Given the description of an element on the screen output the (x, y) to click on. 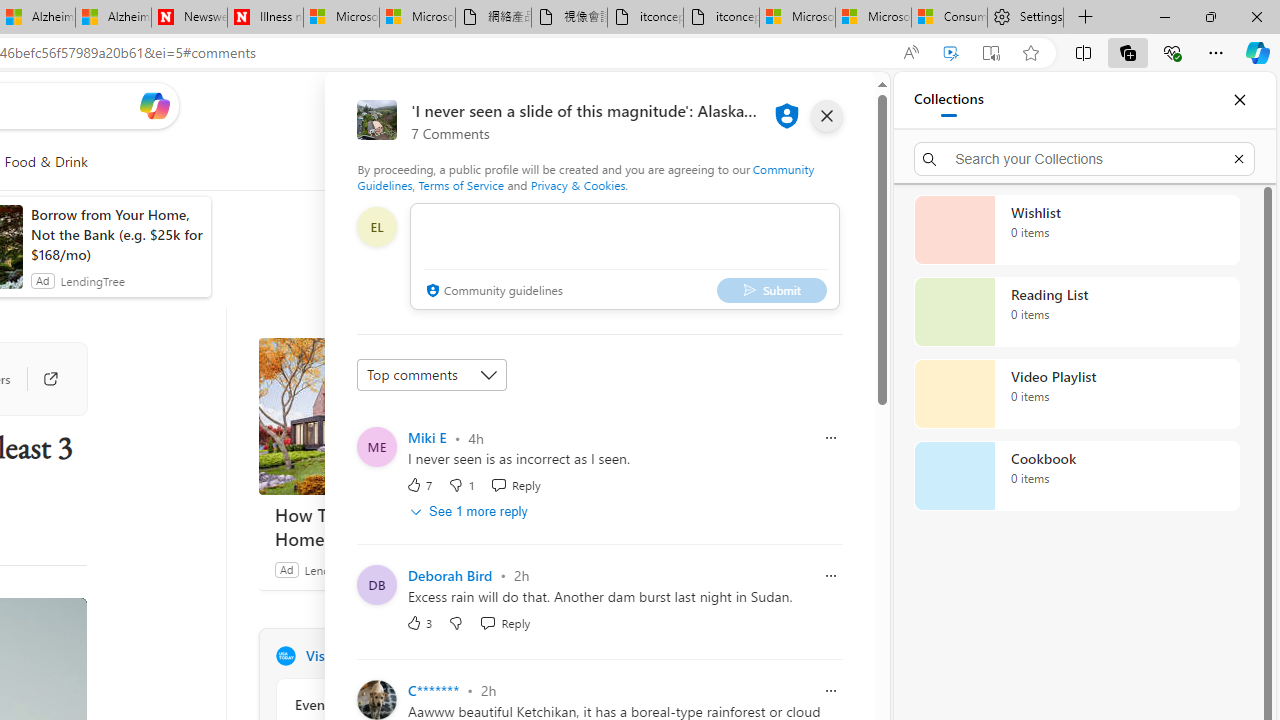
Newsweek - News, Analysis, Politics, Business, Technology (189, 17)
Go to publisher's site (40, 378)
Privacy & Cookies (577, 184)
Visit USA TODAY website (532, 655)
comment-box (624, 256)
See 1 more reply (470, 511)
LendingTree (336, 569)
Cookbook collection, 0 items (1076, 475)
Food & Drink (45, 162)
